Given the description of an element on the screen output the (x, y) to click on. 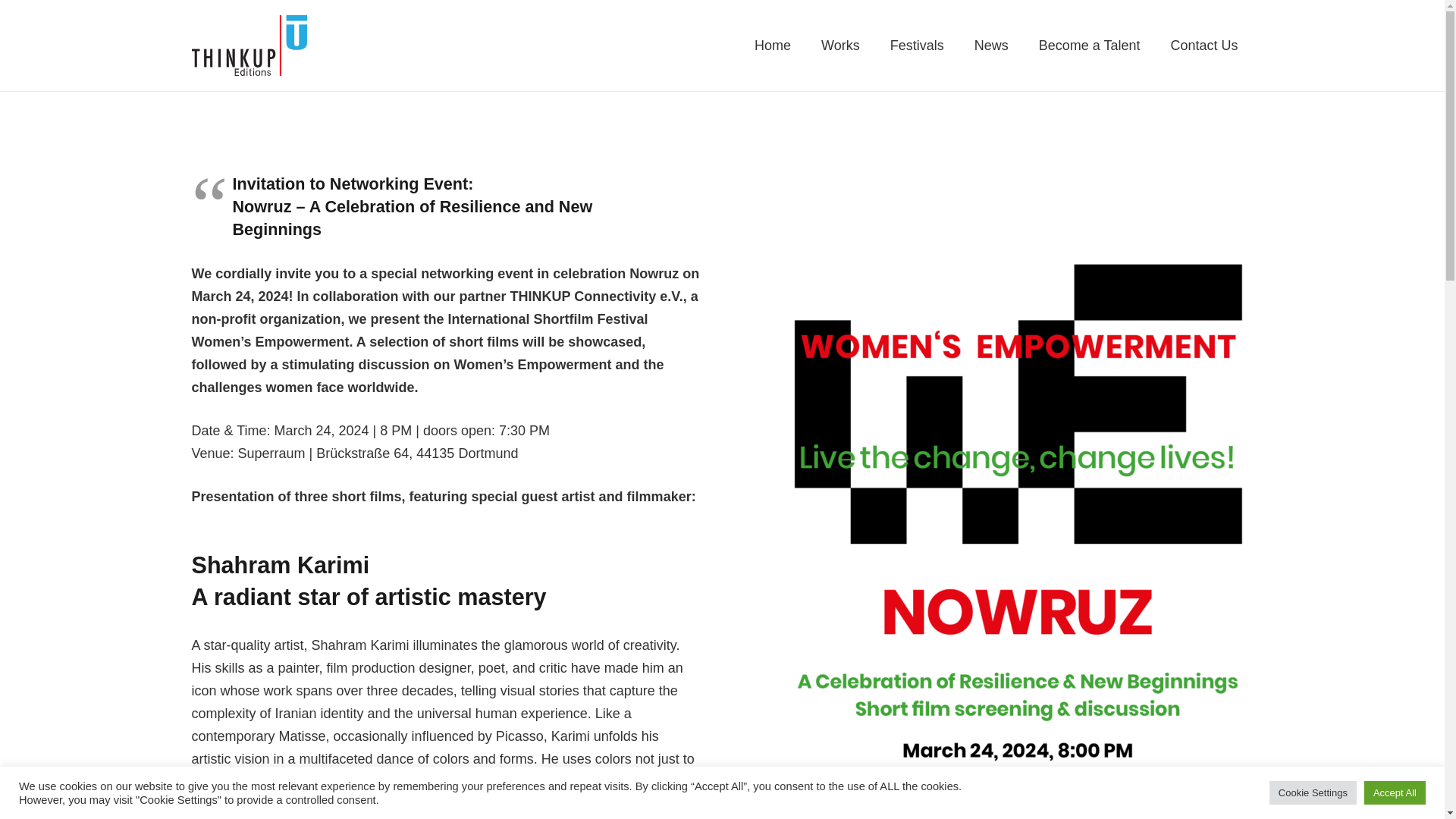
Become a Talent (1089, 45)
Accept All (1394, 792)
Cookie Settings (1312, 792)
Contact Us (1203, 45)
Festivals (917, 45)
